Given the description of an element on the screen output the (x, y) to click on. 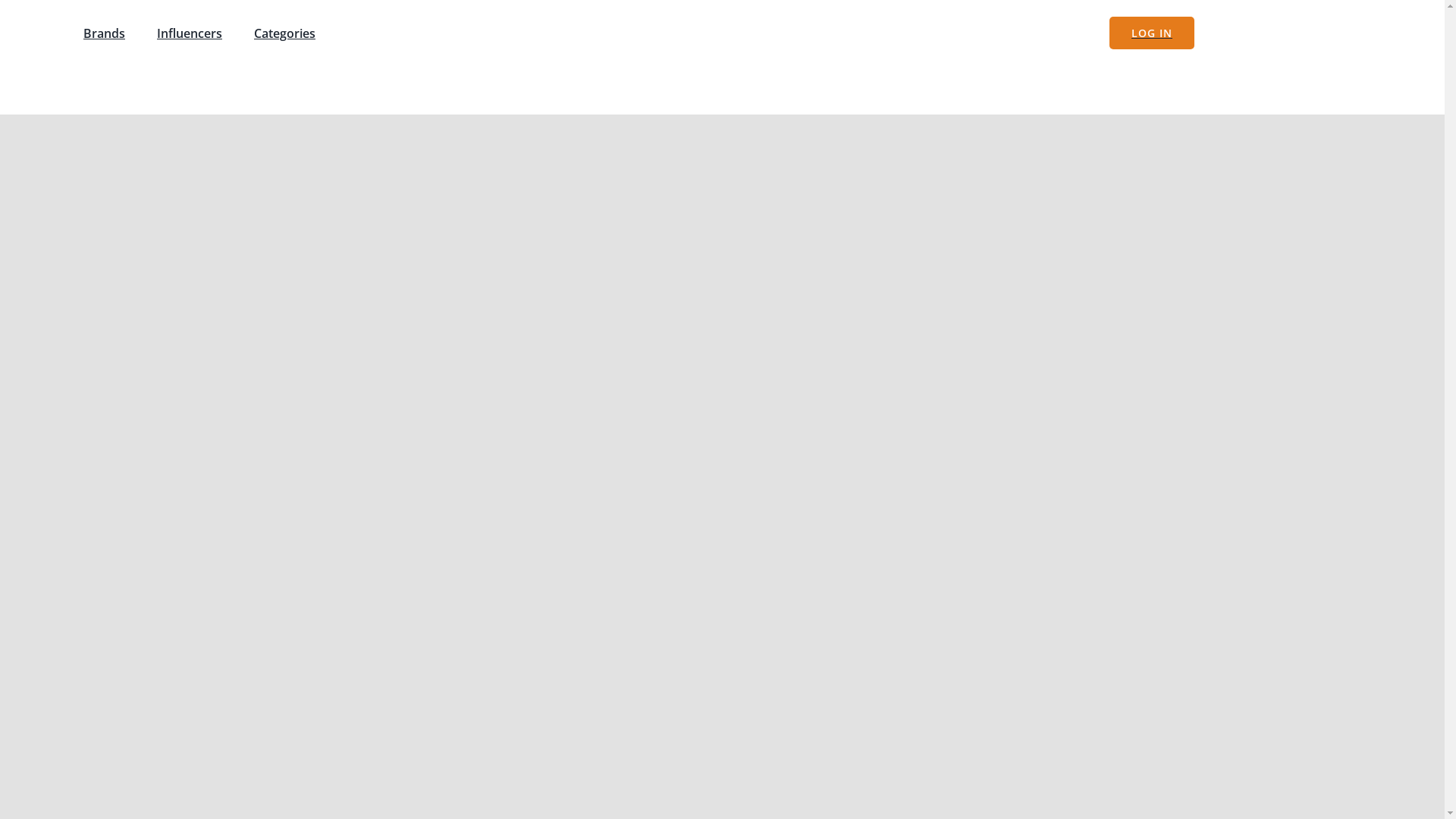
Influencers (189, 31)
Brands (103, 31)
LOG IN (1151, 31)
Categories (284, 31)
